Given the description of an element on the screen output the (x, y) to click on. 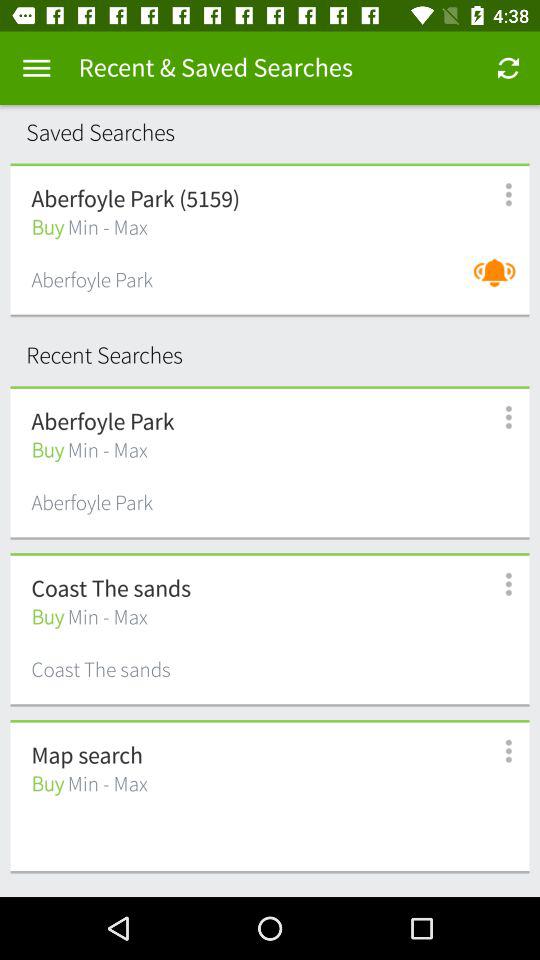
view menu (36, 68)
